Given the description of an element on the screen output the (x, y) to click on. 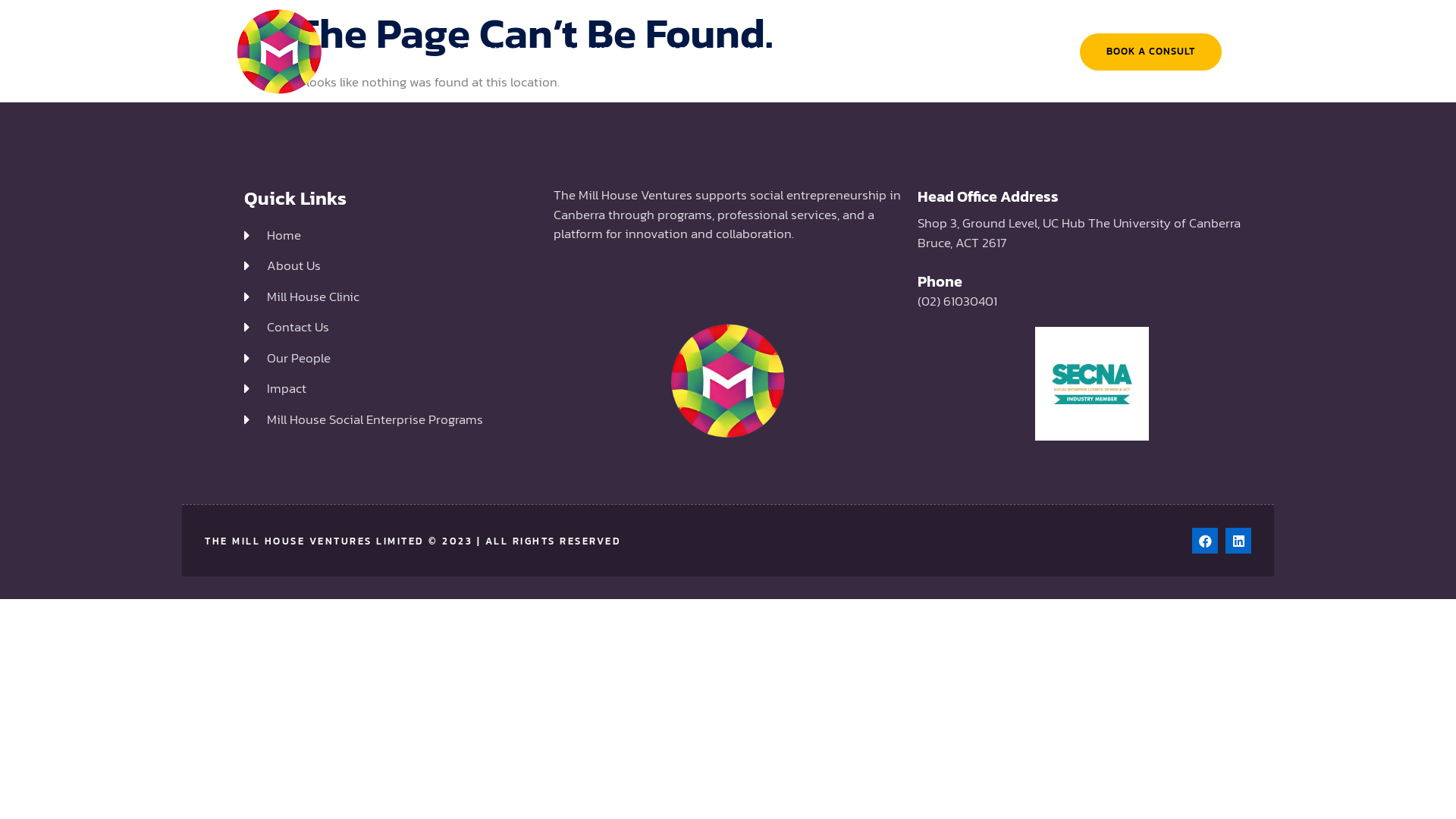
Mill House Clinic Element type: text (391, 297)
Home Element type: text (391, 235)
IMPACT Element type: text (671, 52)
BOOK A CONSULT Element type: text (1150, 51)
Mill House Social Enterprise Programs Element type: text (391, 419)
CONTACT Element type: text (750, 52)
Contact Us Element type: text (391, 327)
Our People Element type: text (391, 358)
PROGRAMS Element type: text (589, 52)
Impact Element type: text (391, 388)
About Us Element type: text (391, 266)
ABOUT US Element type: text (490, 52)
